Given the description of an element on the screen output the (x, y) to click on. 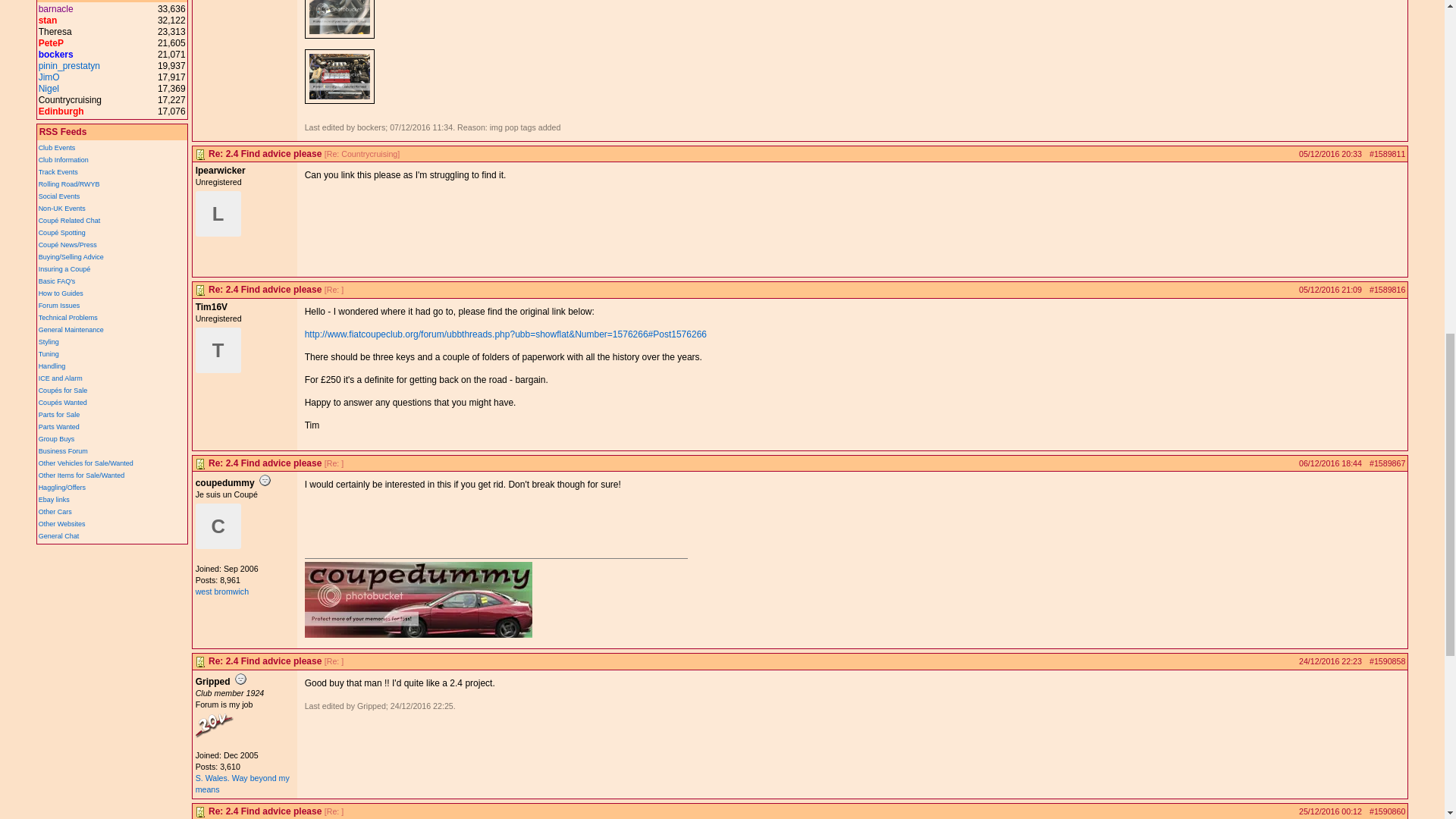
Club Events (57, 147)
Theresa (55, 31)
barnacle (56, 9)
stan (48, 20)
PeteP (51, 42)
Countrycruising (70, 100)
JimO (49, 77)
lpearwicker (218, 213)
Nigel (49, 88)
Track Events (58, 172)
